Given the description of an element on the screen output the (x, y) to click on. 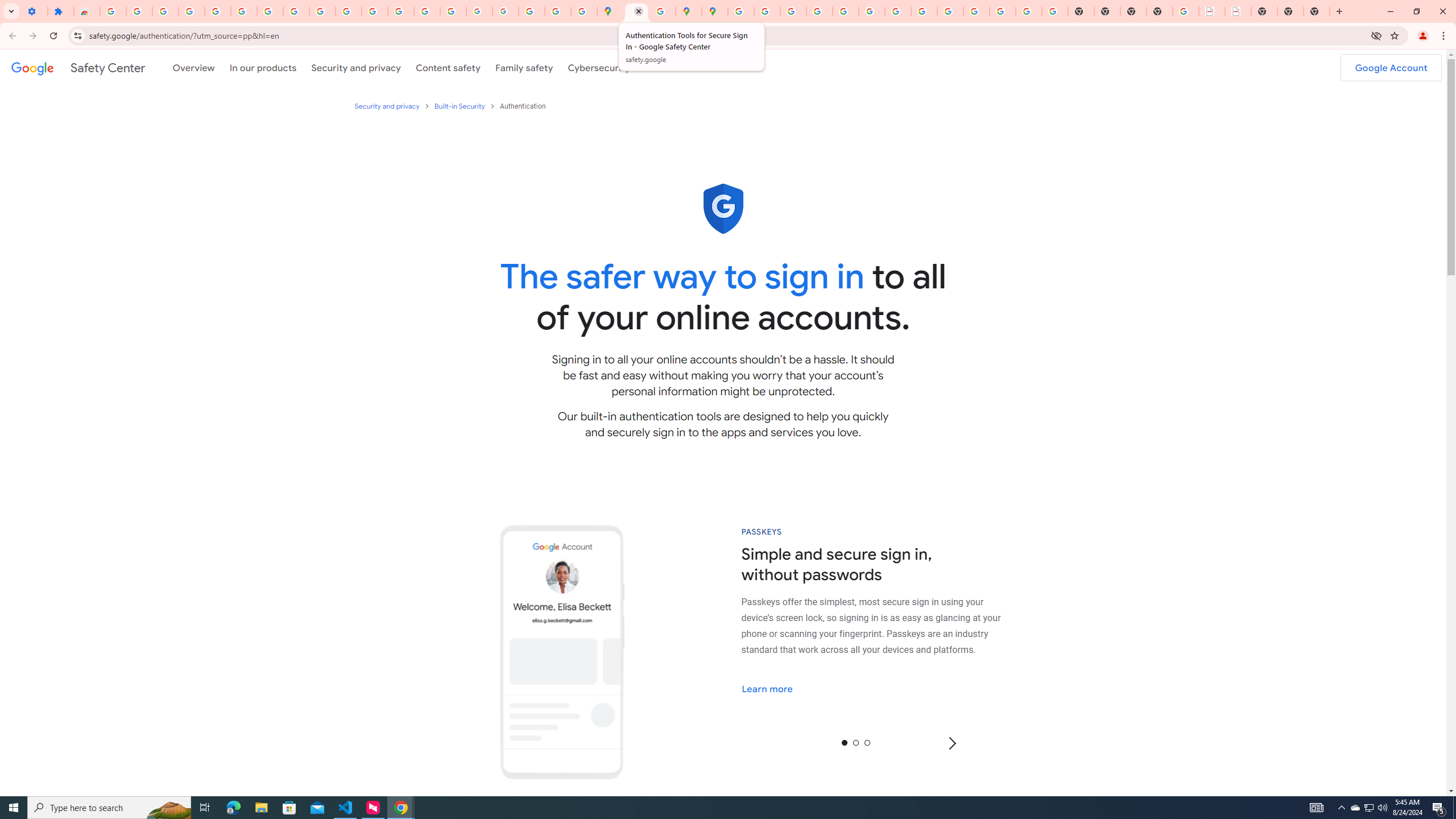
New Tab (1159, 11)
Delete photos & videos - Computer - Google Photos Help (165, 11)
Learn more (774, 688)
2 (866, 742)
Safety in Our Products - Google Safety Center (663, 11)
